Given the description of an element on the screen output the (x, y) to click on. 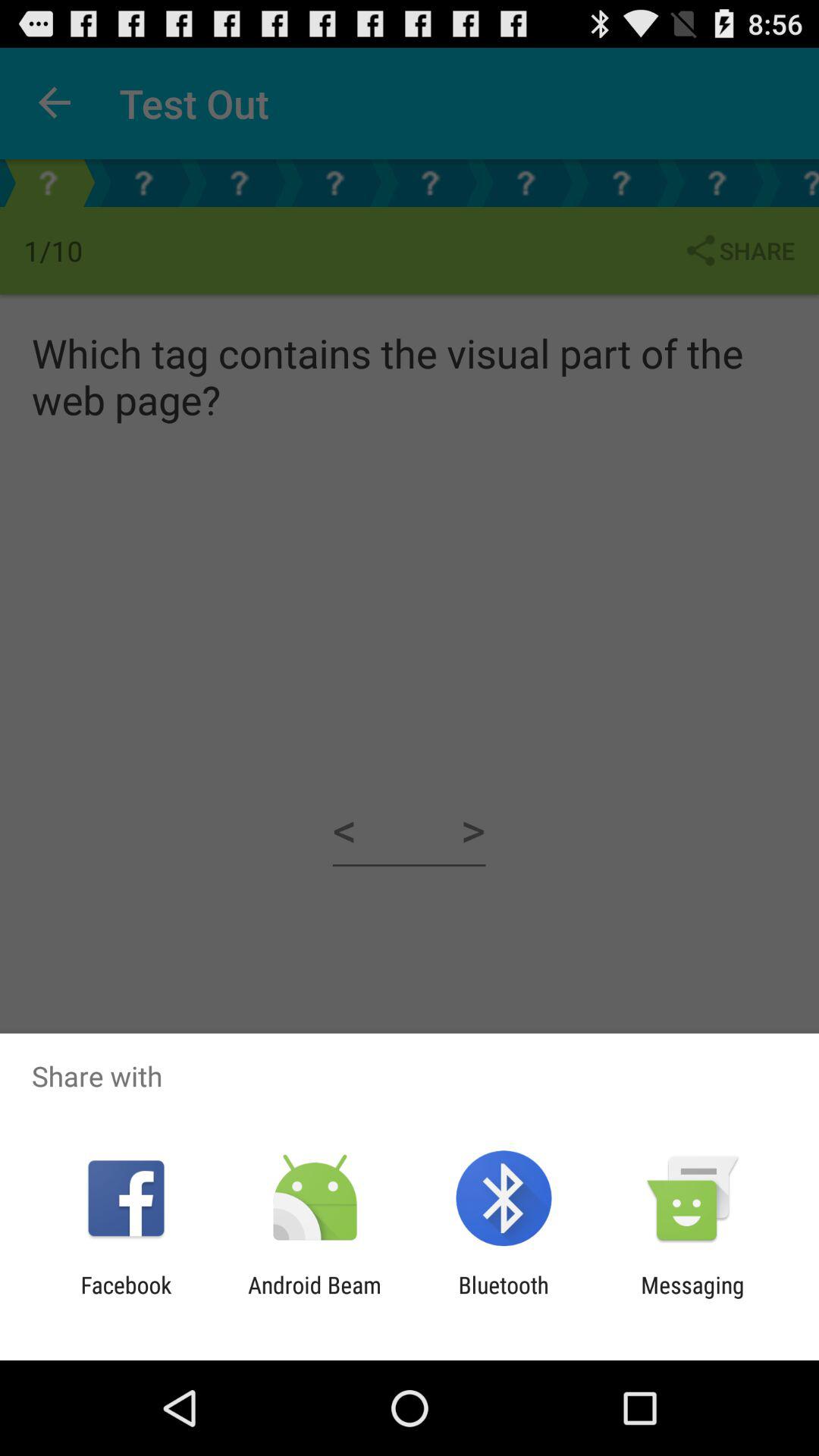
scroll to messaging icon (692, 1298)
